Given the description of an element on the screen output the (x, y) to click on. 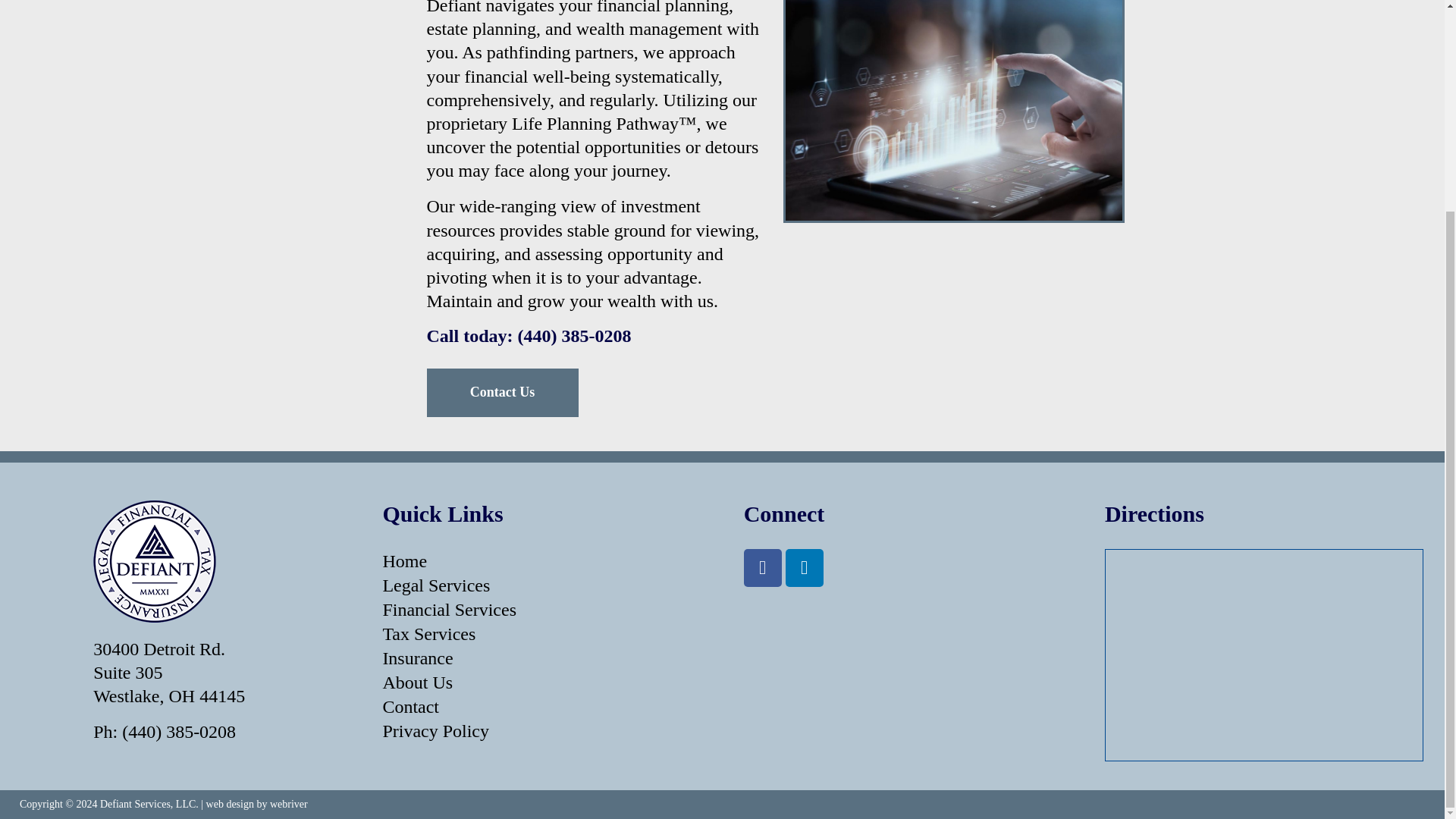
Home (540, 560)
Contact Us (502, 392)
Tax Services (540, 633)
Legal Services (540, 585)
Financial Services (540, 609)
Insurance (540, 658)
